Given the description of an element on the screen output the (x, y) to click on. 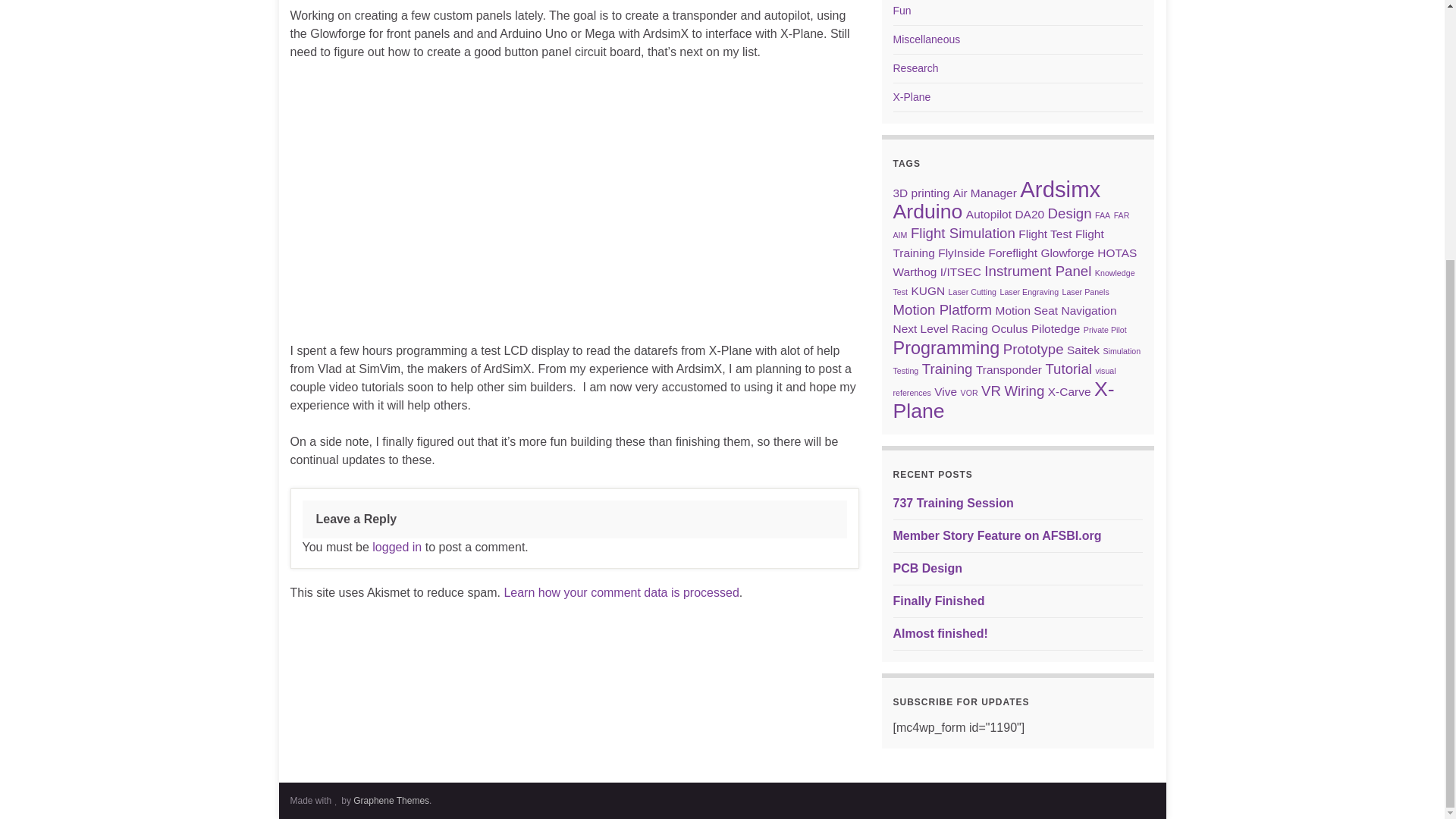
Glowforge (1067, 252)
Arduino (927, 210)
FAR AIM (1011, 224)
3D printing (921, 192)
Fun (902, 10)
Ardsimx (1060, 188)
Learn how your comment data is processed (620, 592)
Instrument Panel (1037, 270)
Air Manager (984, 192)
HOTAS Warthog (1015, 262)
FlyInside (961, 252)
Autopilot (988, 214)
Foreflight (1012, 252)
X-Plane (912, 96)
logged in (397, 546)
